Given the description of an element on the screen output the (x, y) to click on. 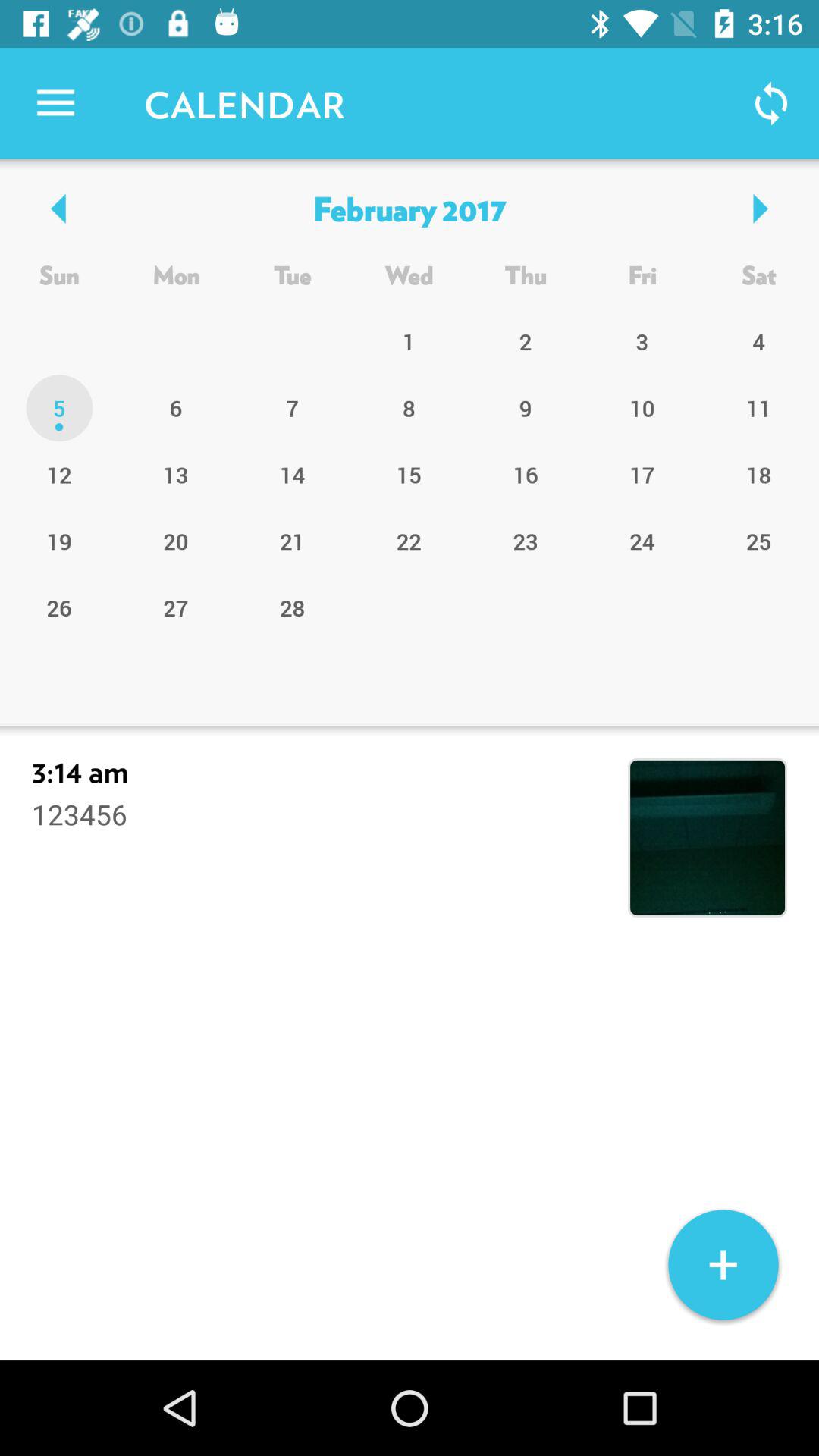
choose the item above sun (408, 208)
